Given the description of an element on the screen output the (x, y) to click on. 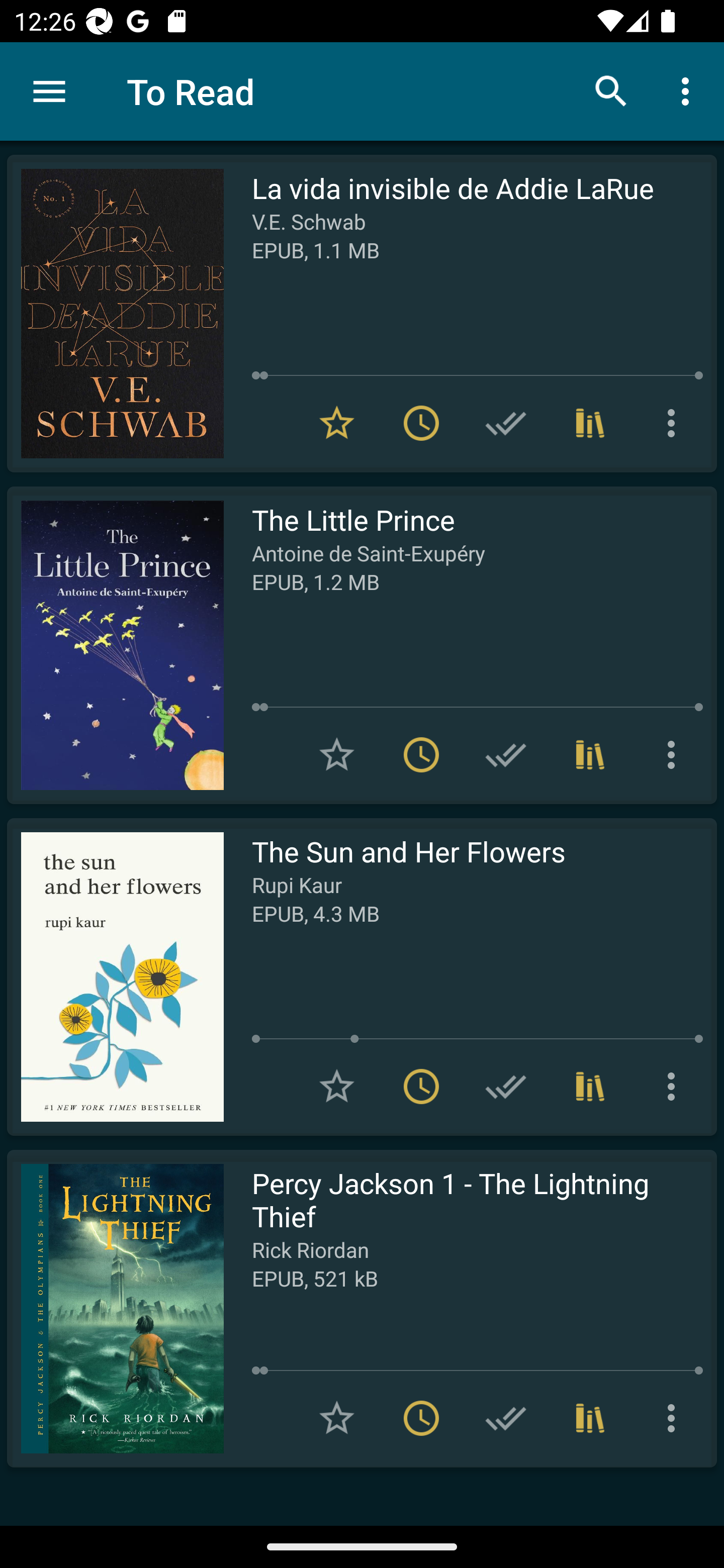
Menu (49, 91)
Search books & documents (611, 90)
More options (688, 90)
Read La vida invisible de Addie LaRue (115, 313)
Remove from Favorites (336, 423)
Remove from To read (421, 423)
Add to Have read (505, 423)
Collections (1) (590, 423)
More options (674, 423)
Read The Little Prince (115, 645)
Add to Favorites (336, 753)
Remove from To read (421, 753)
Add to Have read (505, 753)
Collections (1) (590, 753)
More options (674, 753)
Read The Sun and Her Flowers (115, 976)
Add to Favorites (336, 1086)
Remove from To read (421, 1086)
Add to Have read (505, 1086)
Collections (1) (590, 1086)
More options (674, 1086)
Read Percy Jackson 1 - The Lightning Thief (115, 1308)
Add to Favorites (336, 1417)
Remove from To read (421, 1417)
Add to Have read (505, 1417)
Collections (1) (590, 1417)
More options (674, 1417)
